Given the description of an element on the screen output the (x, y) to click on. 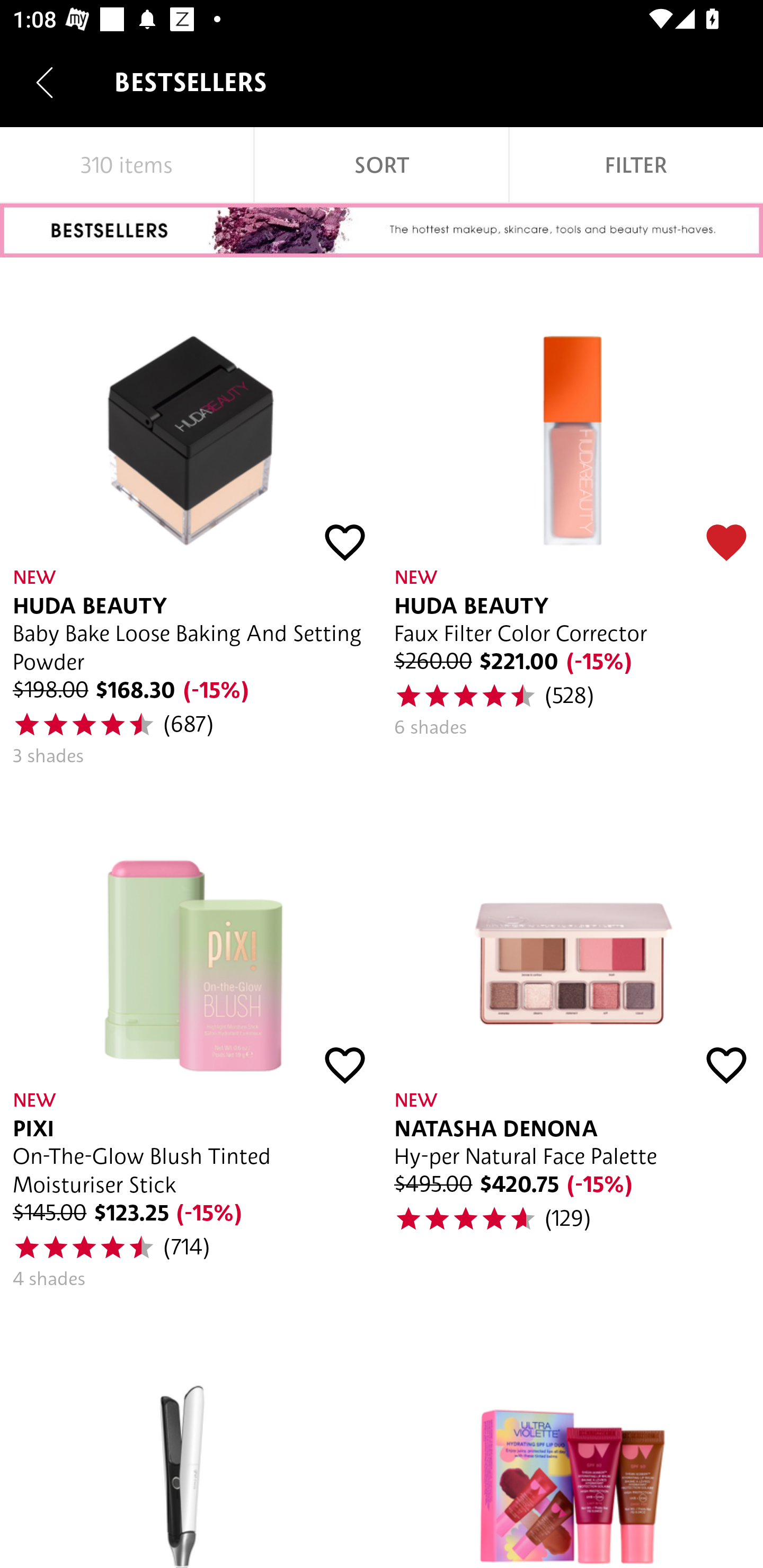
Navigate up (44, 82)
SORT (381, 165)
FILTER (636, 165)
